Given the description of an element on the screen output the (x, y) to click on. 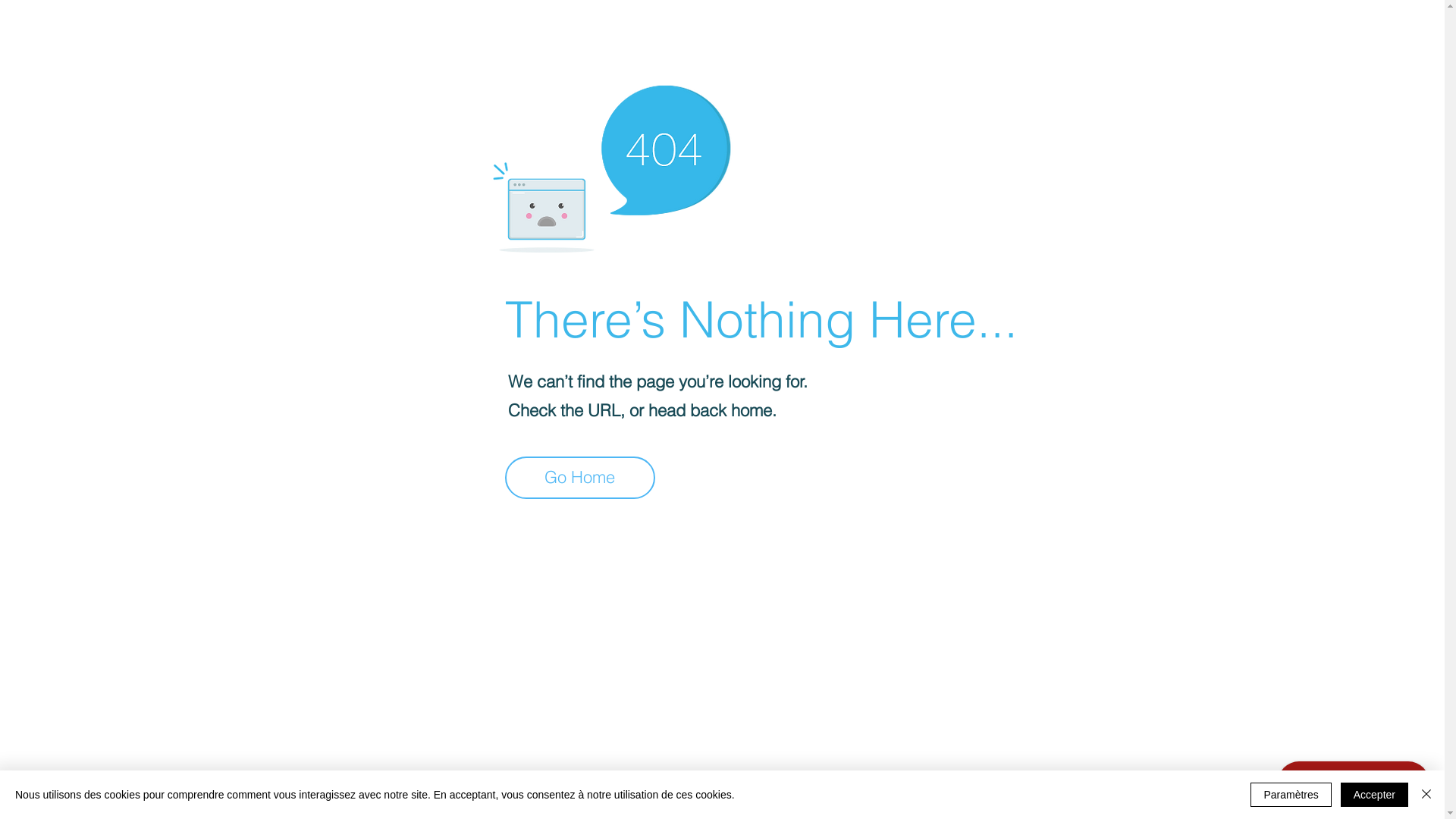
Accepter Element type: text (1374, 794)
Go Home Element type: text (580, 477)
404-icon_2.png Element type: hover (610, 164)
